Given the description of an element on the screen output the (x, y) to click on. 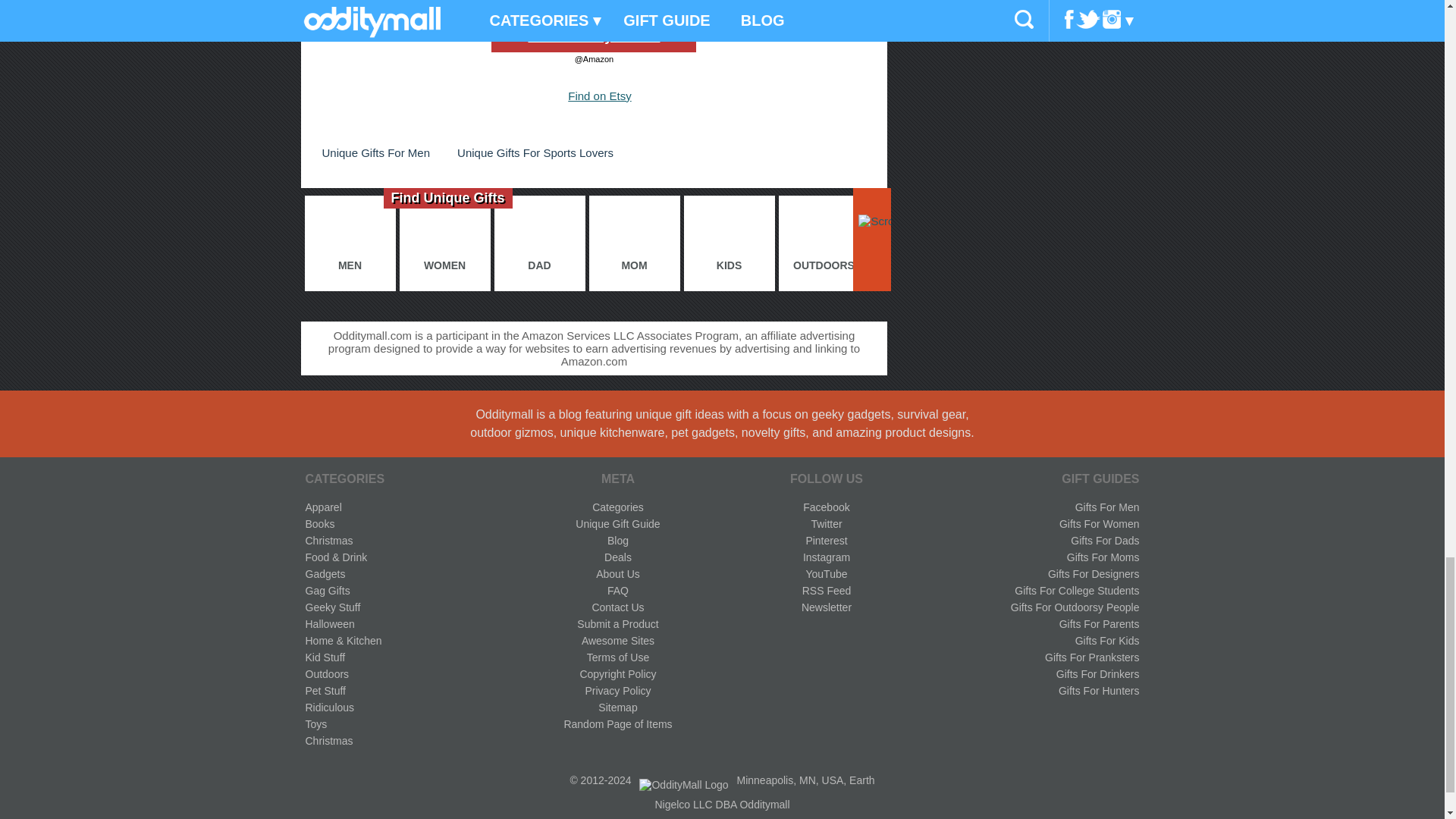
Unique Gifts For Sports Lovers (535, 152)
Check Today's Price (593, 36)
Unique Gifts For Sports Lovers (535, 152)
Find on Etsy (598, 95)
Unique Gifts For Men (375, 152)
Unique Gifts For Men (375, 152)
